Given the description of an element on the screen output the (x, y) to click on. 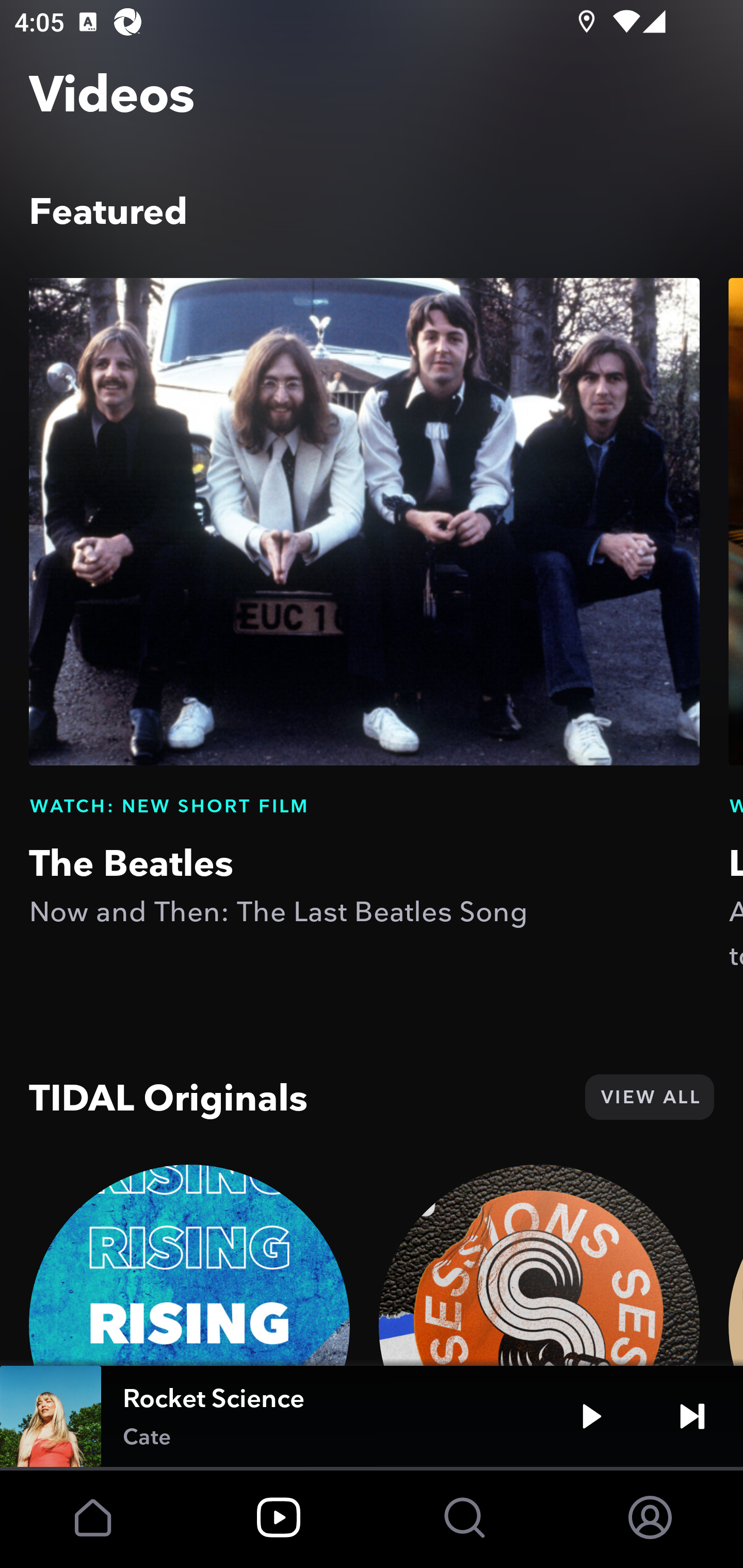
VIEW ALL (649, 1096)
Rocket Science Cate Play (371, 1416)
Play (590, 1416)
